Given the description of an element on the screen output the (x, y) to click on. 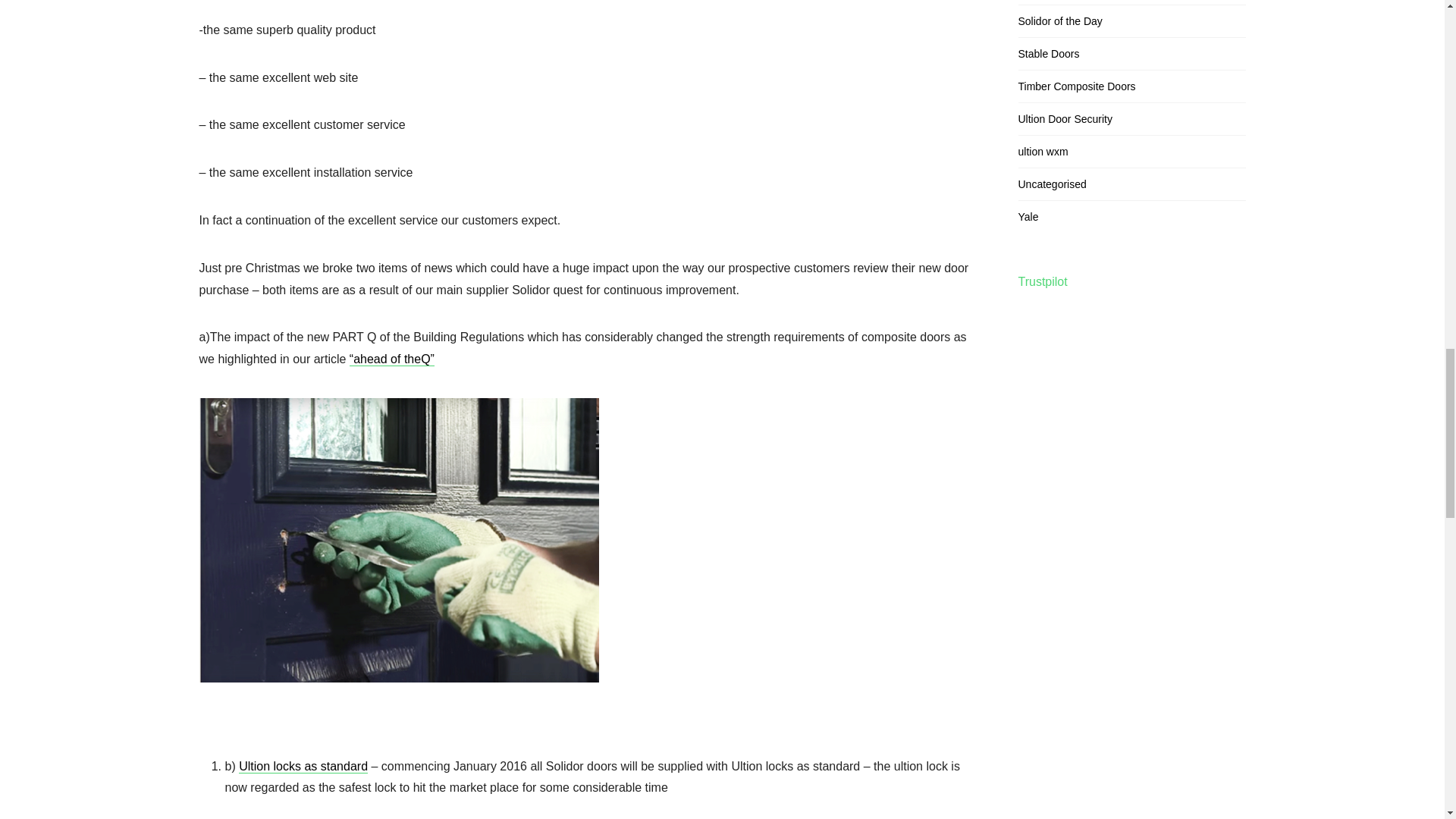
Ultion locks as standard (303, 766)
